Given the description of an element on the screen output the (x, y) to click on. 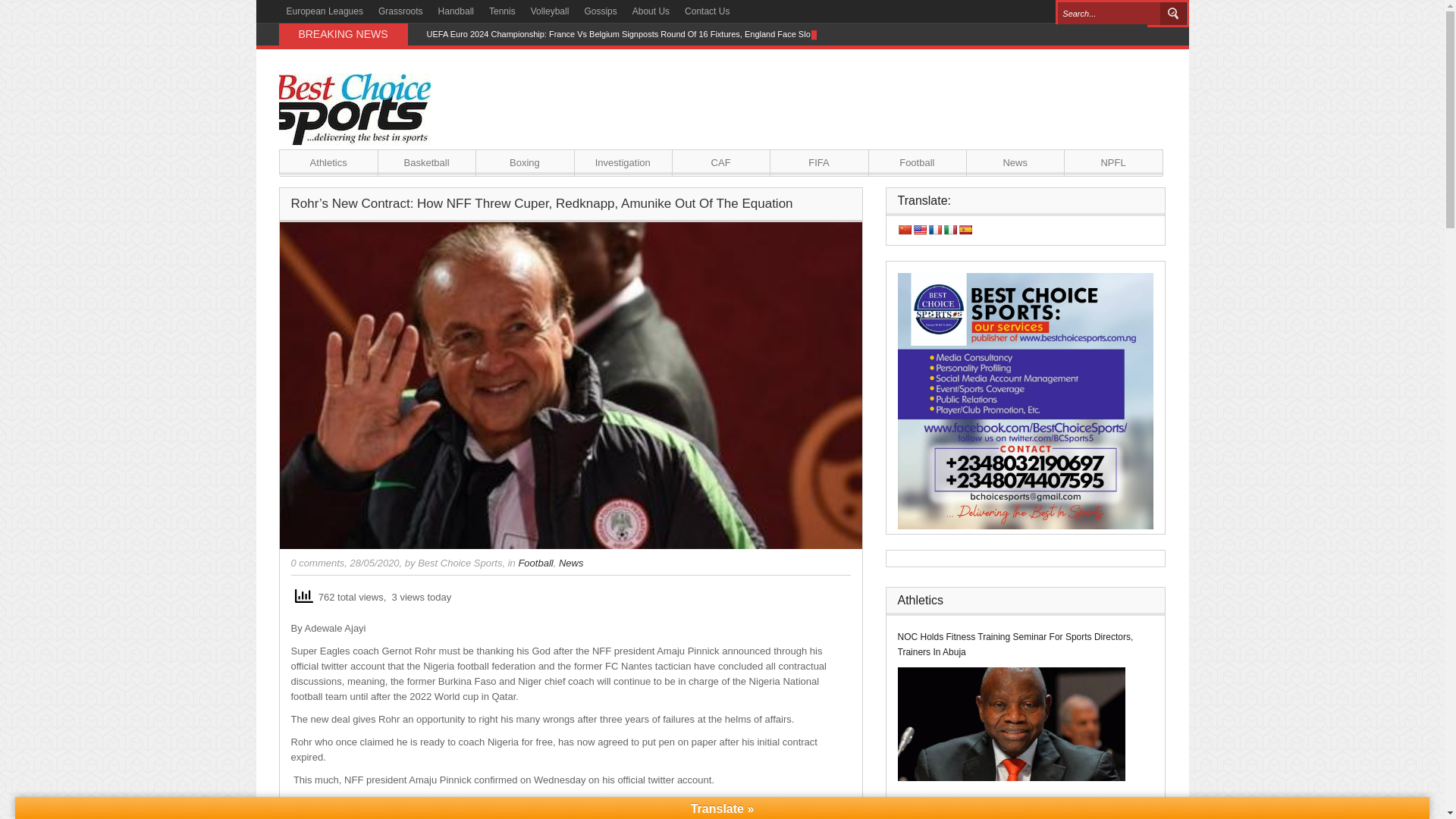
European Leagues (325, 11)
NPFL (1112, 162)
Basketball (426, 162)
Investigation (622, 162)
News (1015, 162)
Football (535, 562)
Grassroots (400, 11)
Athletics (328, 162)
Italian (949, 229)
Football (916, 162)
Search (1173, 13)
Best Choice Sports (459, 562)
Posts by Best Choice Sports (459, 562)
CAF (720, 162)
